Given the description of an element on the screen output the (x, y) to click on. 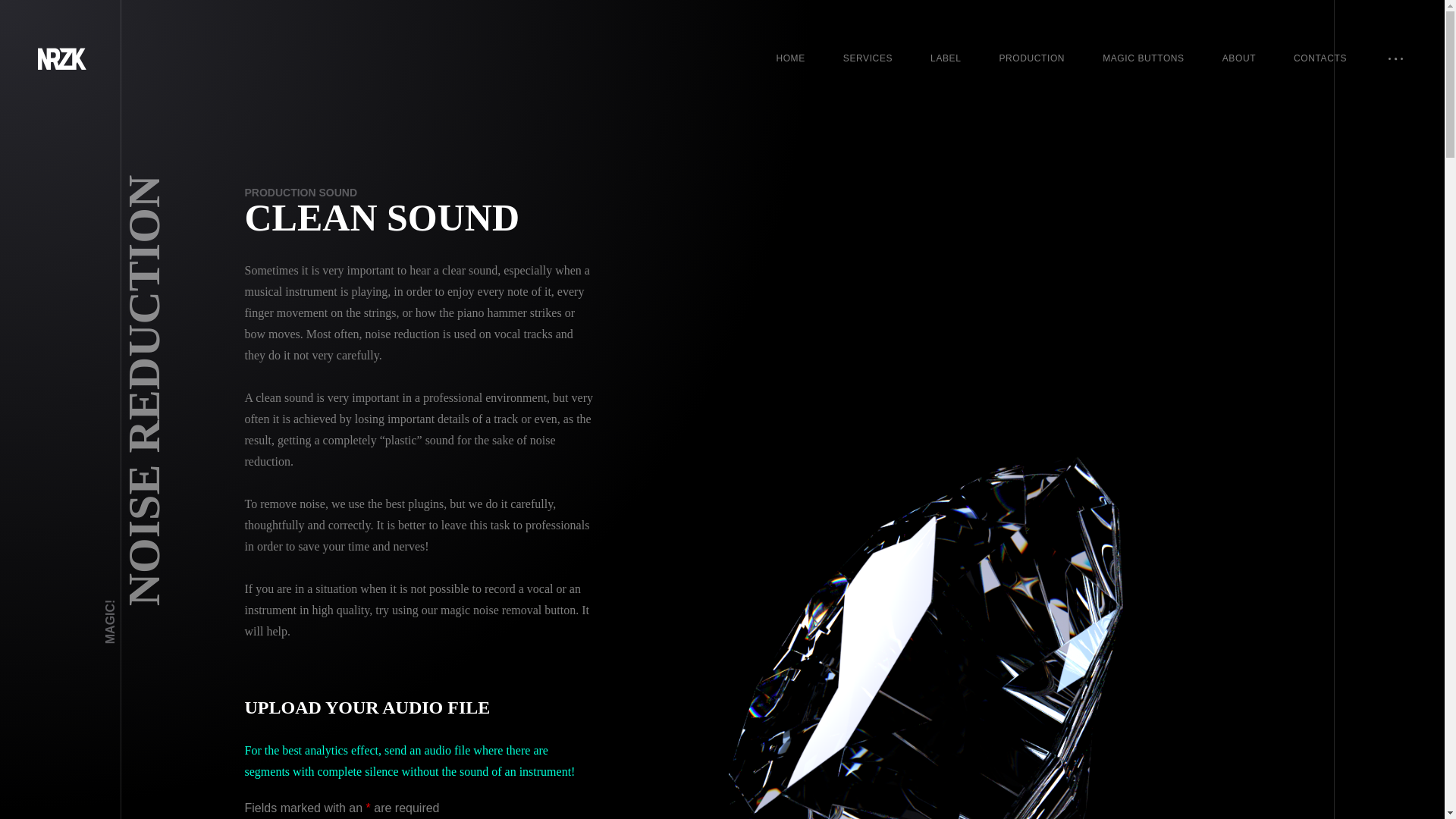
HOME (790, 58)
LABEL (945, 58)
PRODUCTION (1031, 58)
SERVICES (867, 58)
MAGIC BUTTONS (1143, 58)
ABOUT (1239, 58)
CONTACTS (1320, 58)
